Given the description of an element on the screen output the (x, y) to click on. 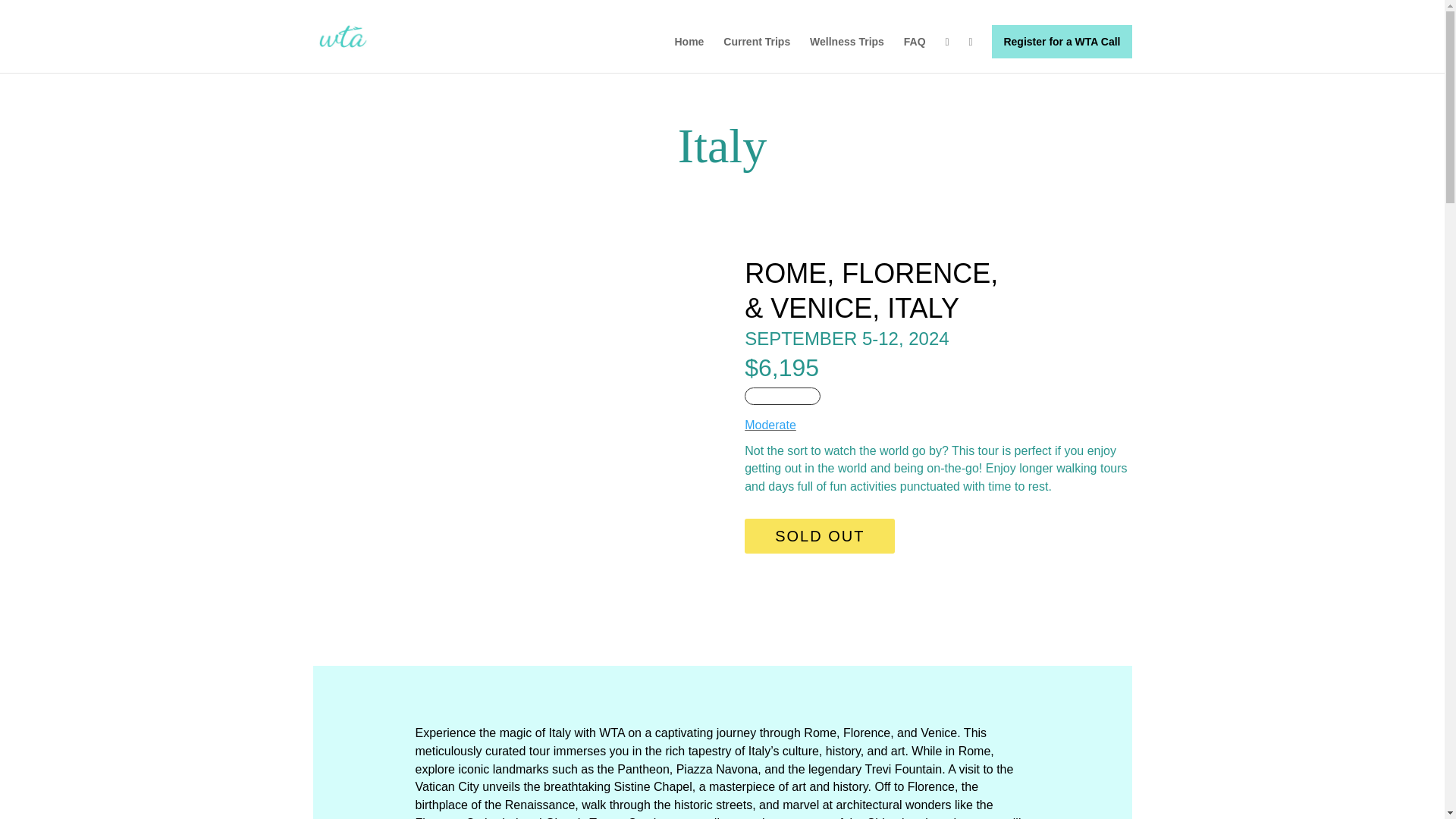
Register for a WTA Call (1061, 41)
Moderate (770, 424)
SOLD OUT (819, 535)
Wellness Trips (846, 54)
Current Trips (756, 54)
